Given the description of an element on the screen output the (x, y) to click on. 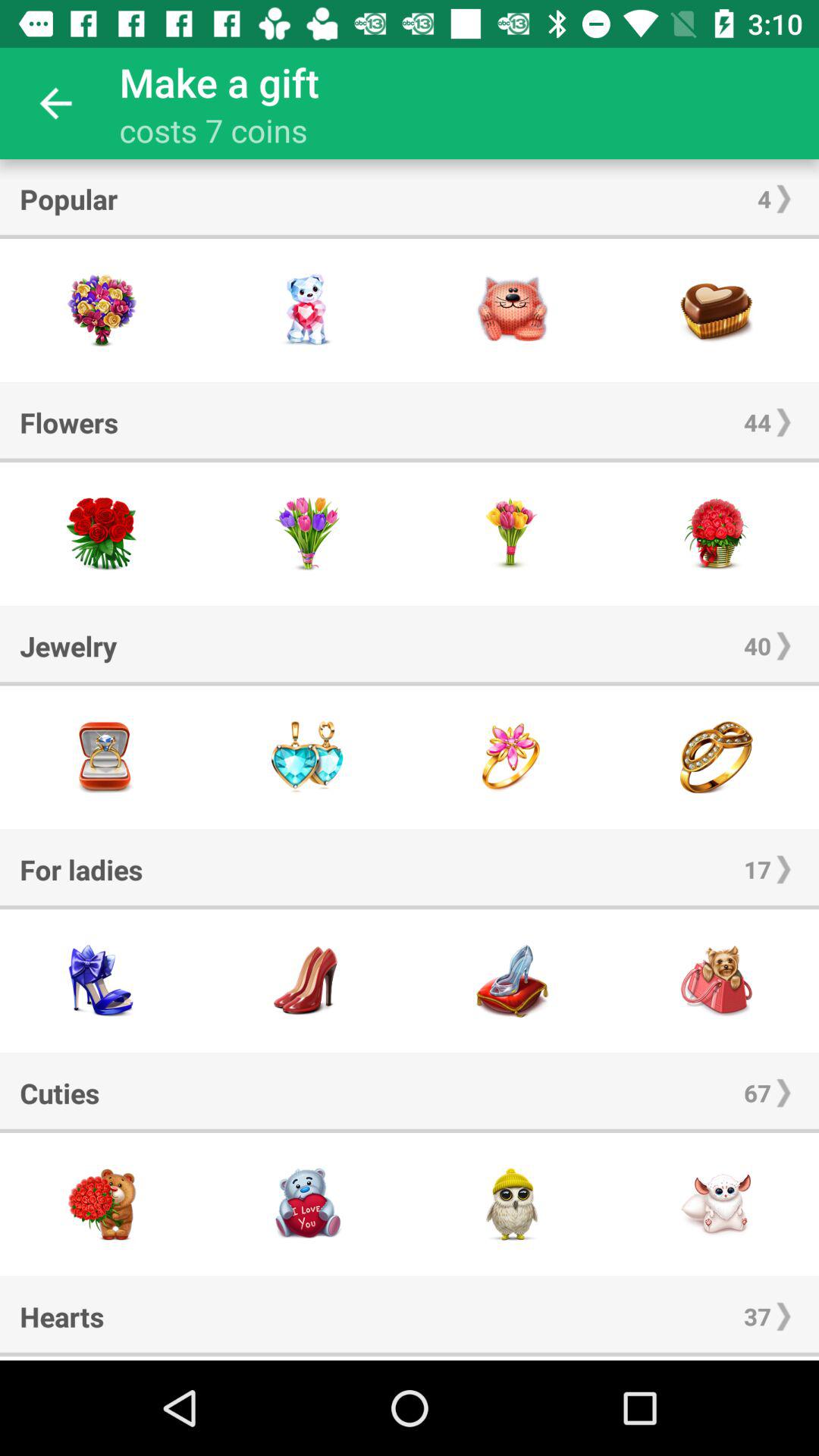
open item to the right of the flowers (757, 422)
